Given the description of an element on the screen output the (x, y) to click on. 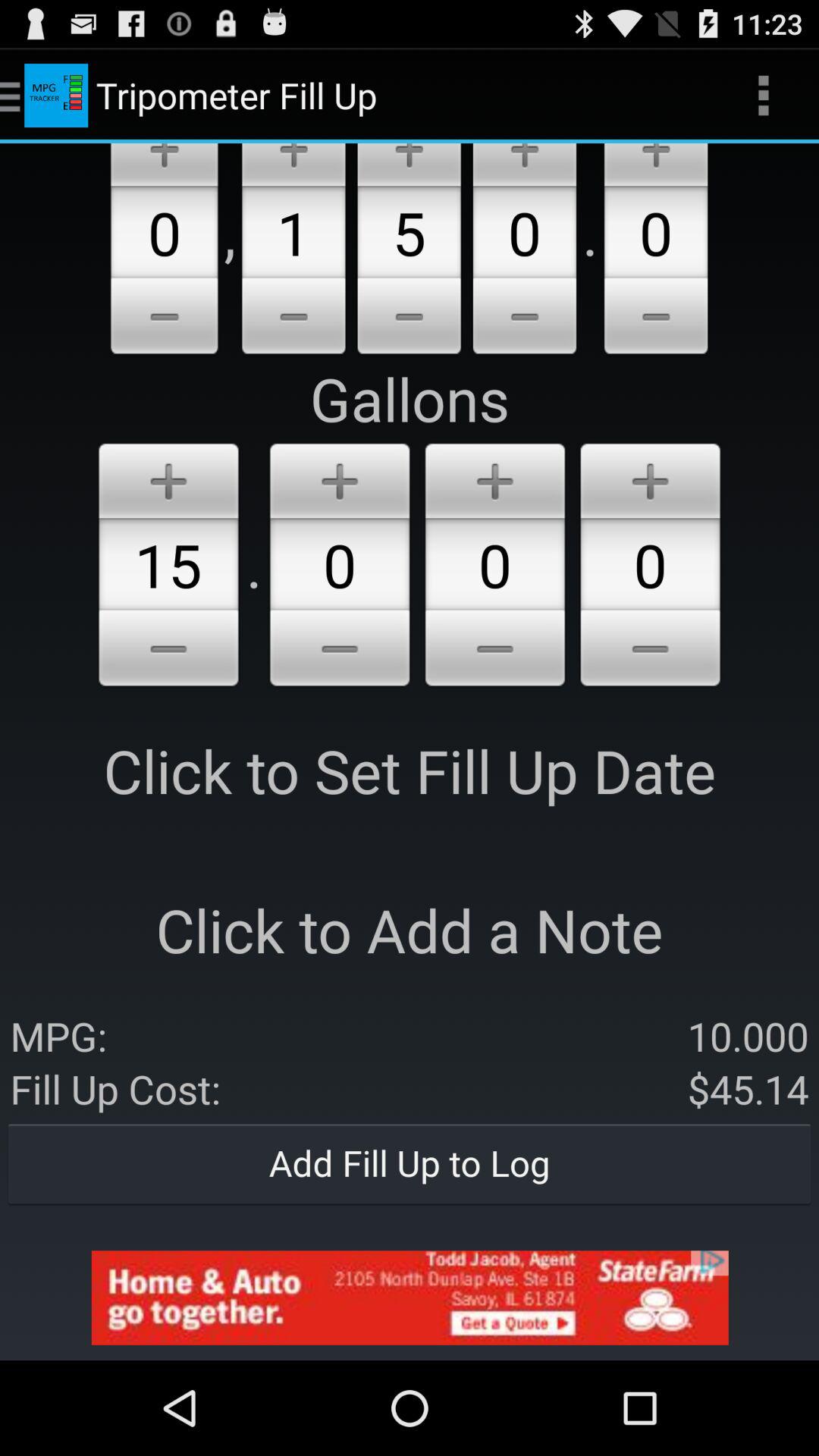
increase millage (408, 164)
